Given the description of an element on the screen output the (x, y) to click on. 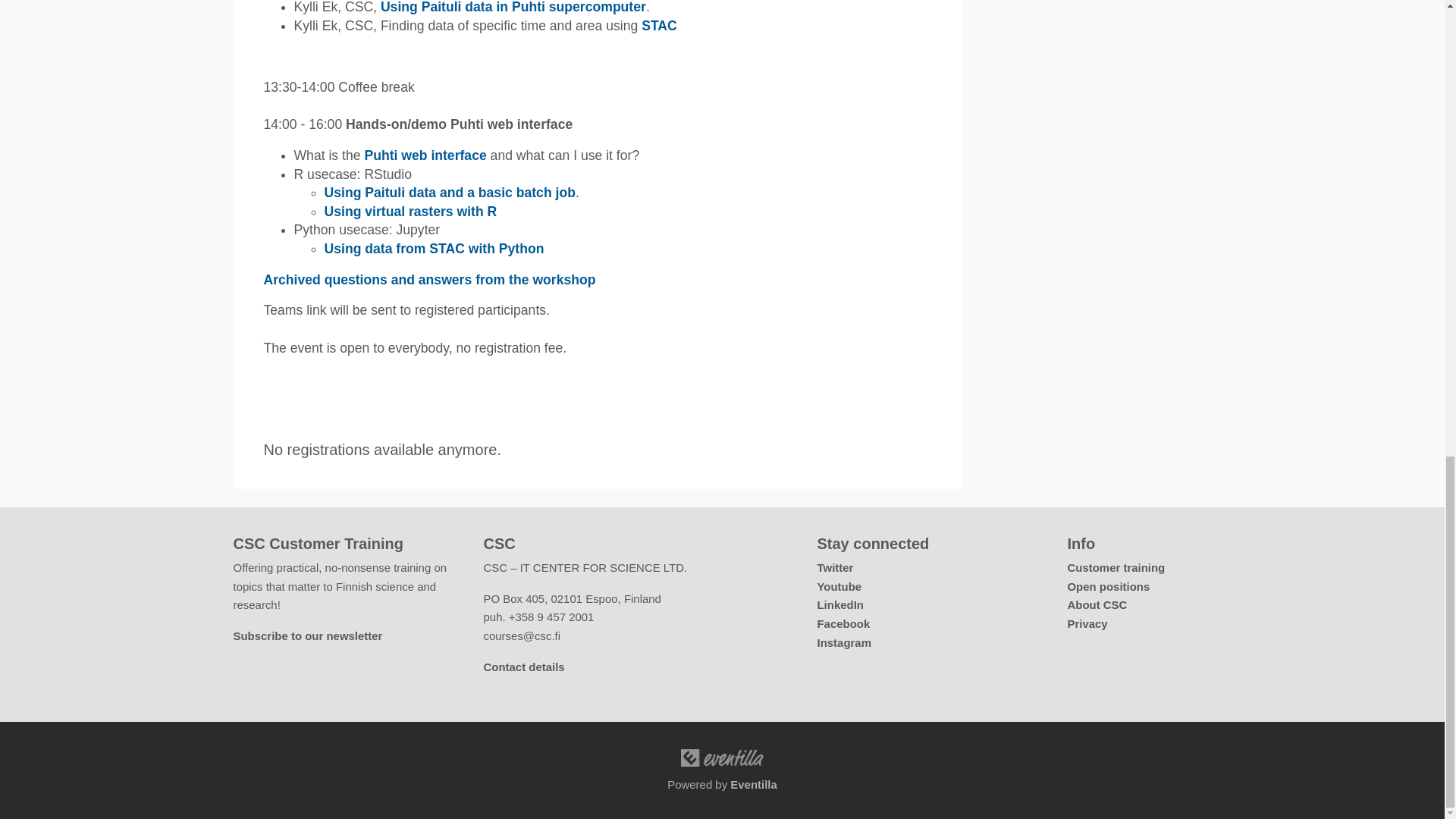
Using virtual rasters with R (410, 211)
Eventilla (753, 784)
Instagram (843, 642)
Puhti web interface (425, 155)
Open positions (1108, 585)
Twitter (834, 567)
Hedgedoc (429, 279)
Using data from STAC with Python (434, 248)
Facebook (842, 623)
Using Paituli data in Puhti supercomputer (513, 7)
Youtube (838, 585)
STAC (659, 25)
Privacy (1086, 623)
About CSC (1096, 604)
Customer training (1115, 567)
